Given the description of an element on the screen output the (x, y) to click on. 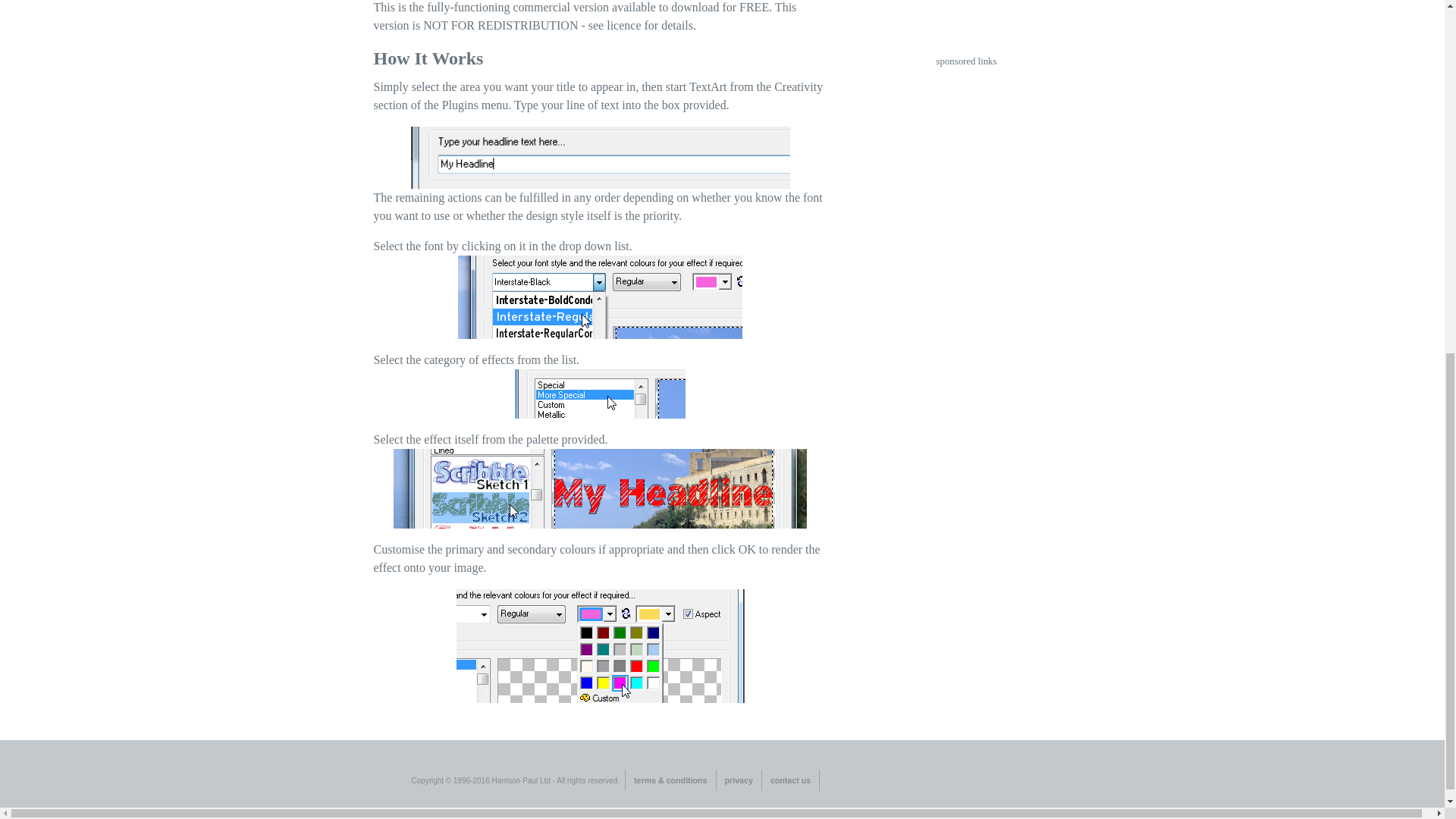
textArt plugin select font screenshot (600, 297)
privacy (738, 780)
contact us (790, 780)
textArt plugin select effect screenshot (599, 488)
textArt plugin select category screenshot (600, 393)
textArt plugin screenshot 1 (600, 157)
